Given the description of an element on the screen output the (x, y) to click on. 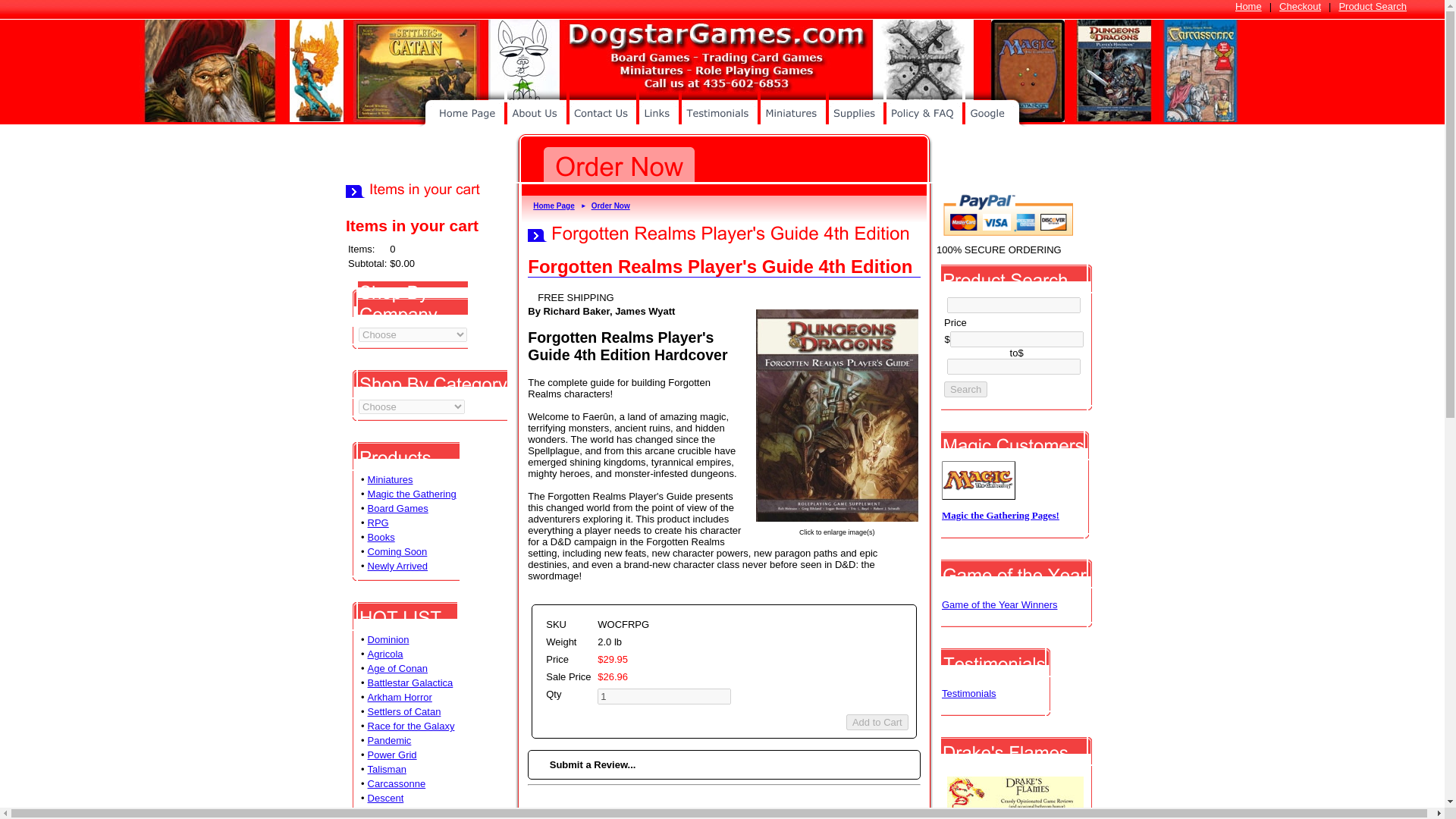
Talisman (387, 768)
Battlestar Galactica (410, 682)
Product Search (1372, 6)
Descent (386, 797)
Power Grid (392, 754)
Pandemic (390, 740)
Agricola (385, 654)
War of the Ring (401, 812)
Arkham Horror (400, 696)
Dominion (388, 639)
Magic the Gathering (412, 493)
Forgotten Realms Player's Guide 4th Edition (836, 516)
Drakesflames (1015, 810)
Order Now (610, 205)
Home (1248, 6)
